Given the description of an element on the screen output the (x, y) to click on. 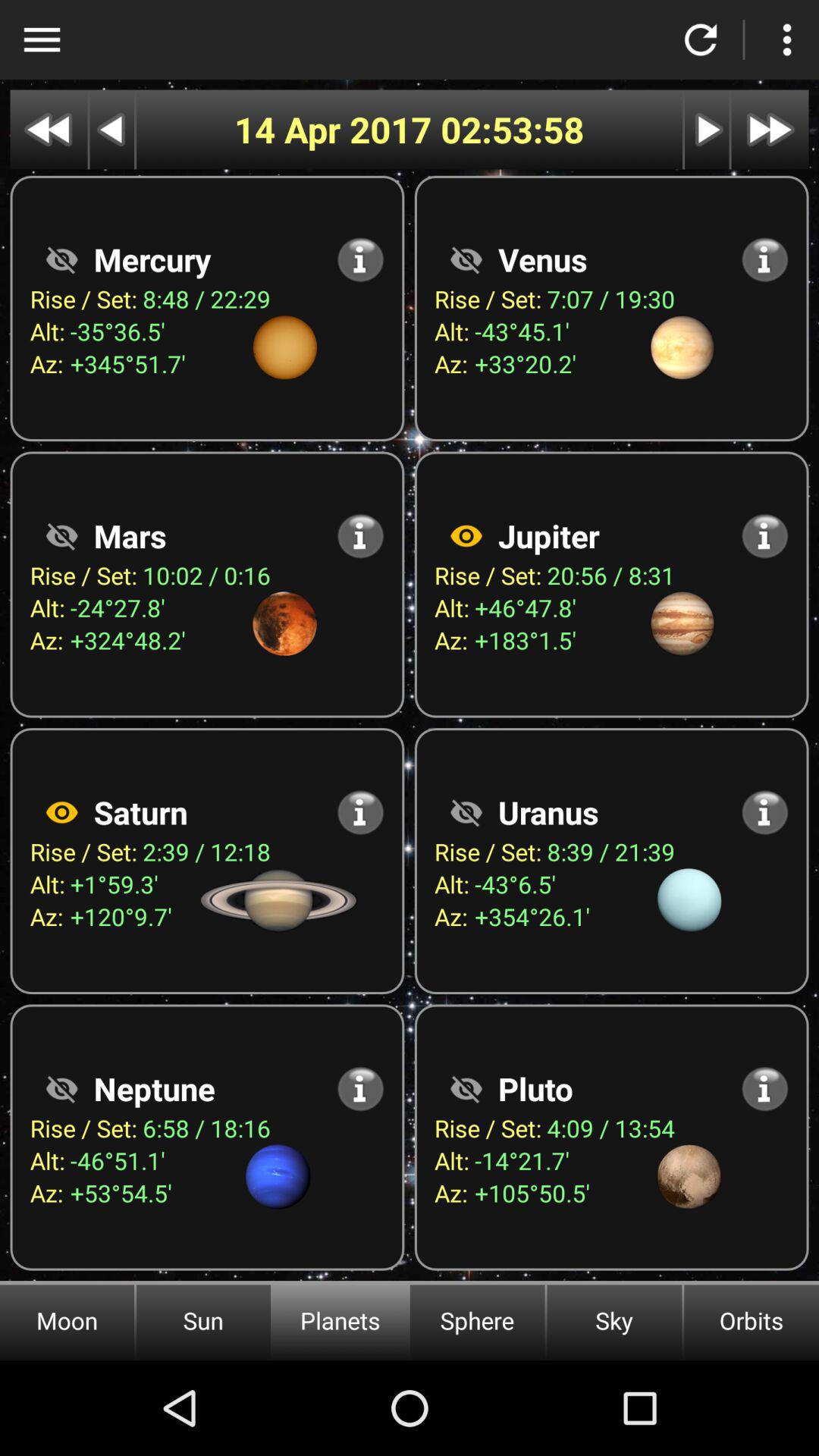
select app next to the 02:53:58 (337, 129)
